Given the description of an element on the screen output the (x, y) to click on. 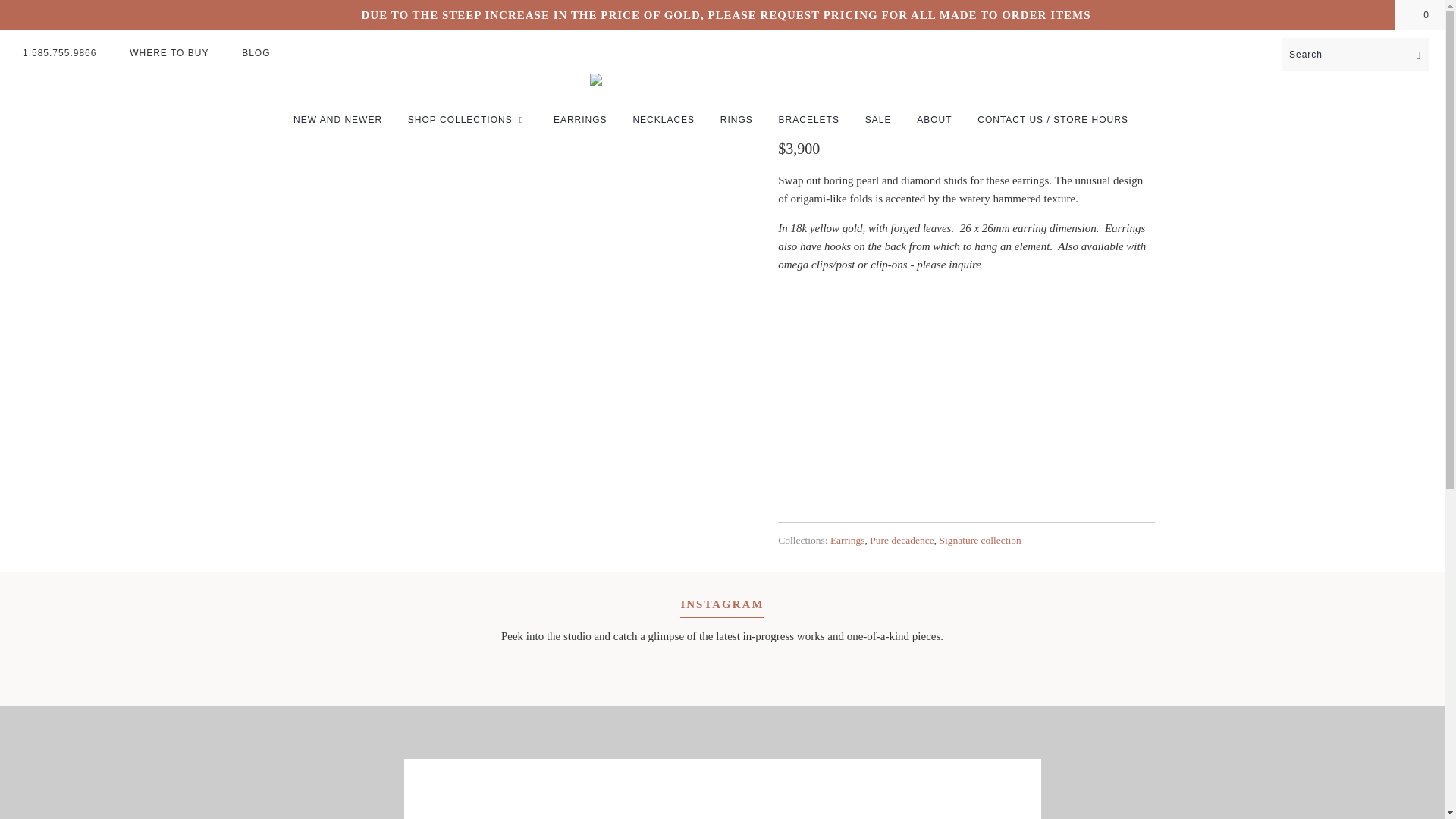
WHERE TO BUY (168, 52)
Signature collection (979, 540)
BLOG (255, 52)
Earrings (846, 540)
1.585.755.9866 (59, 52)
My Account  (1393, 51)
Pure decadence (901, 540)
LOGIN (1393, 51)
